Given the description of an element on the screen output the (x, y) to click on. 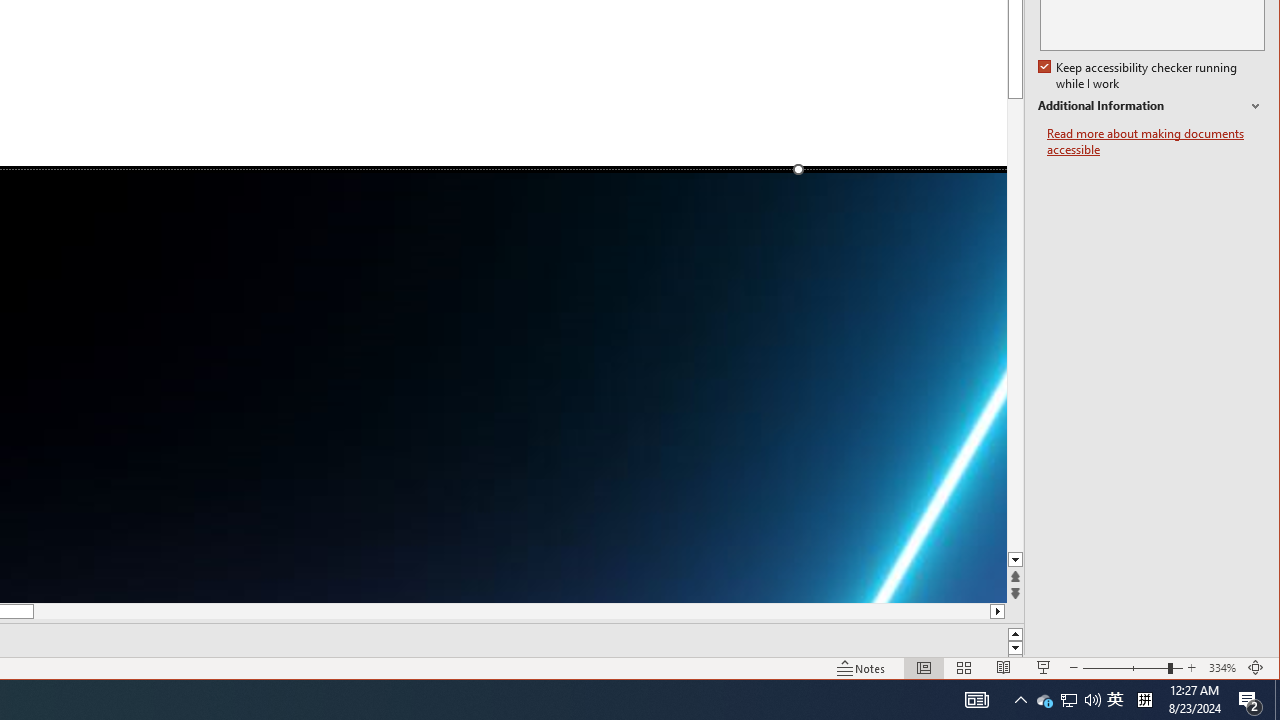
Zoom 334% (1222, 668)
